Given the description of an element on the screen output the (x, y) to click on. 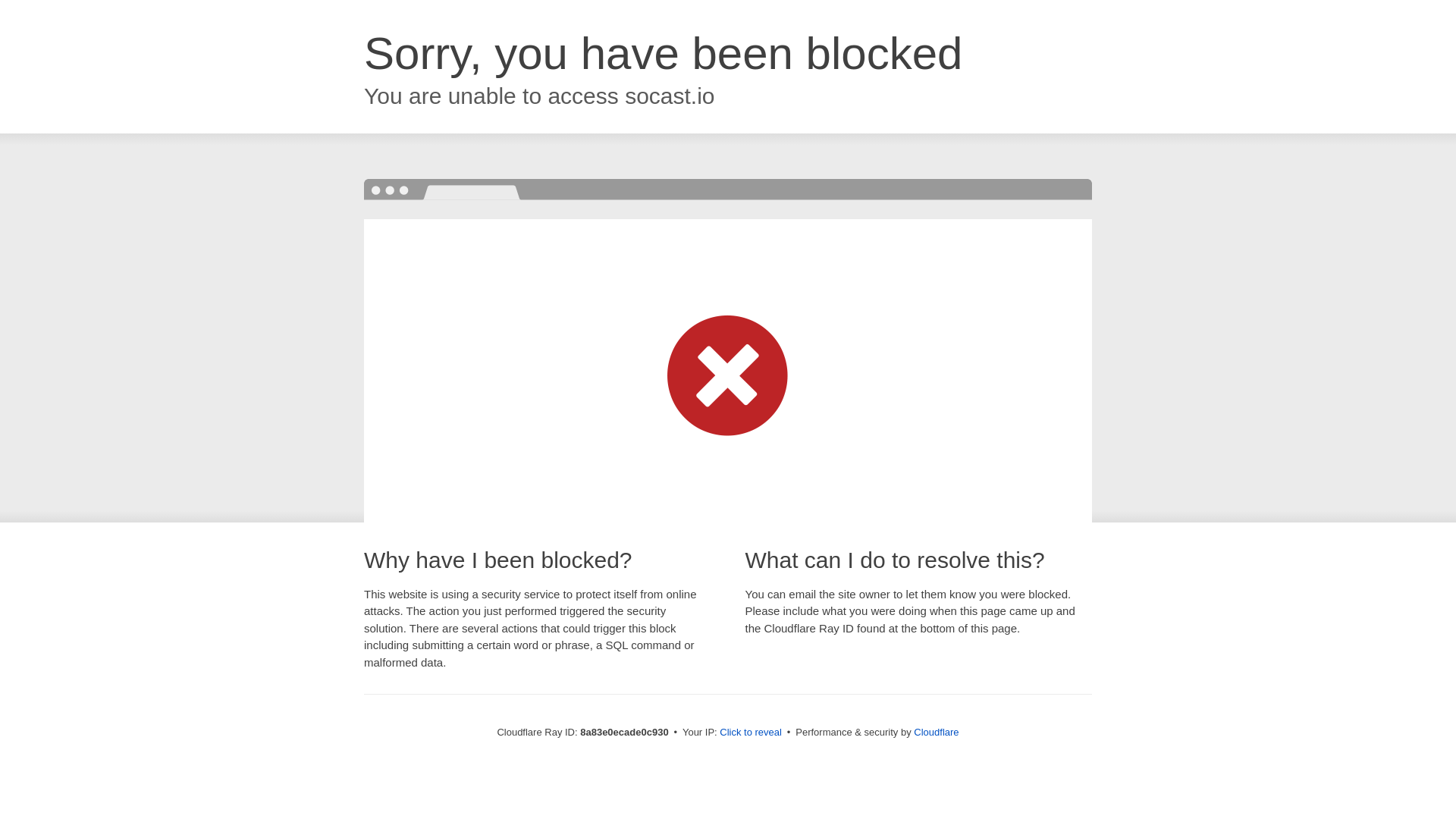
Click to reveal (750, 732)
Cloudflare (936, 731)
